Given the description of an element on the screen output the (x, y) to click on. 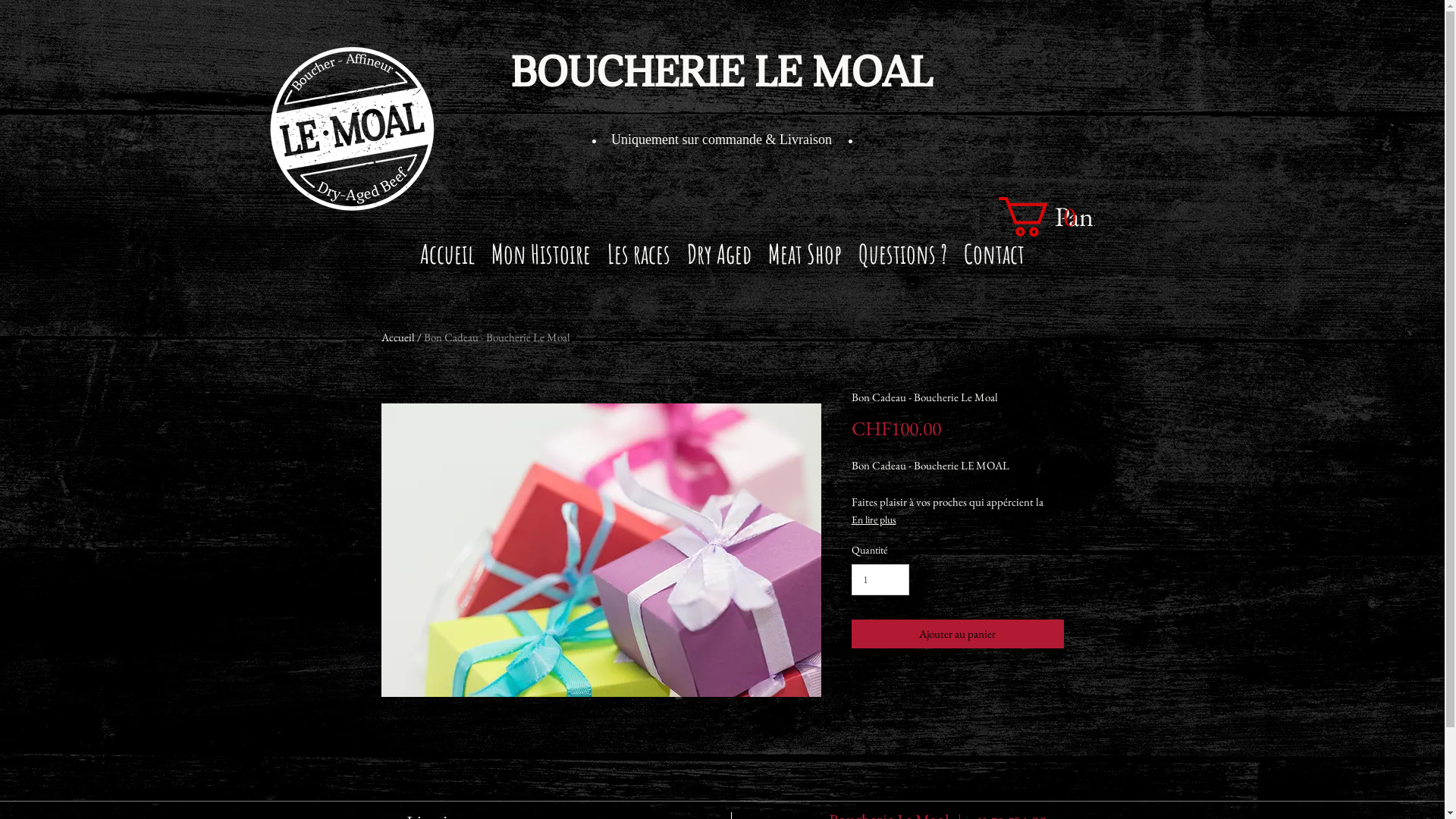
Boucherie Le Moal Element type: hover (350, 128)
Contact Element type: text (993, 258)
Accueil Element type: text (447, 258)
Bon Cadeau - Boucherie Le Moal Element type: text (496, 336)
Accueil Element type: text (397, 336)
Meat Shop Element type: text (804, 258)
Questions ? Element type: text (902, 258)
Les races Element type: text (638, 258)
Dry Aged Element type: text (718, 258)
BOUCHERIE LE MOAL Element type: text (721, 72)
Panier
0 Element type: text (1045, 216)
Ajouter au panier Element type: text (956, 634)
Mon Histoire Element type: text (541, 258)
En lire plus Element type: text (956, 519)
